Given the description of an element on the screen output the (x, y) to click on. 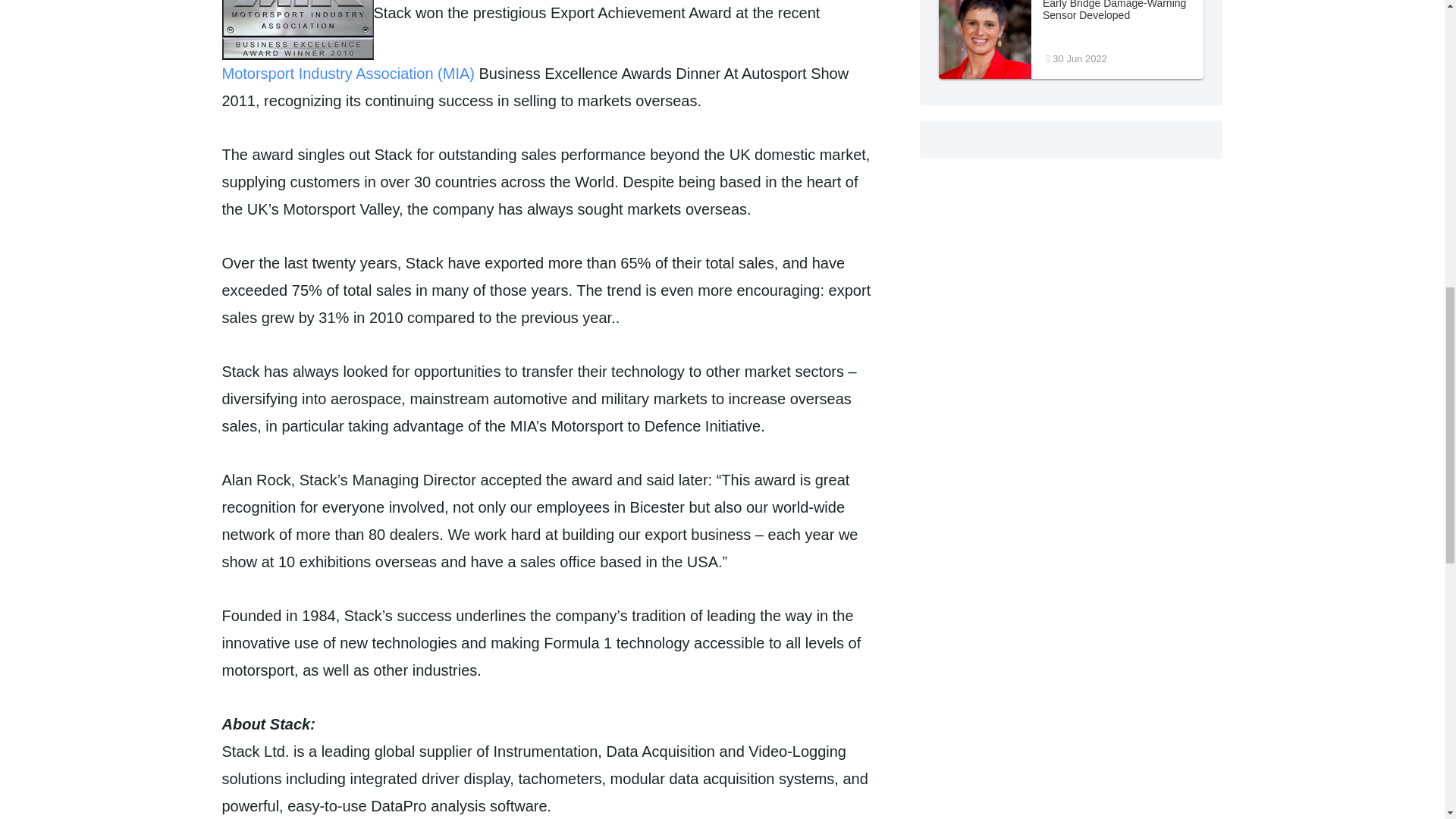
business excellence award (1071, 39)
